Given the description of an element on the screen output the (x, y) to click on. 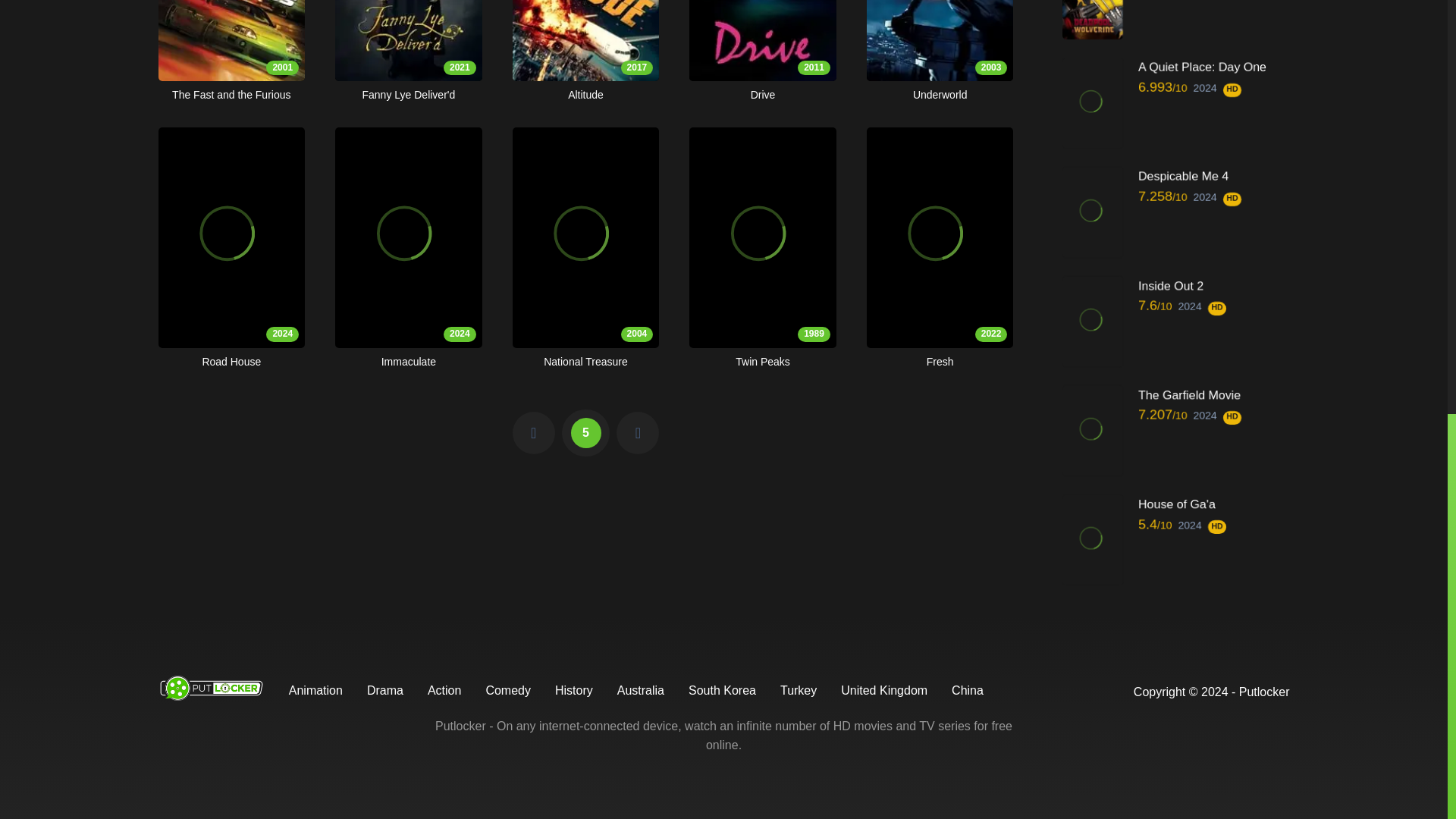
5 (407, 51)
